Given the description of an element on the screen output the (x, y) to click on. 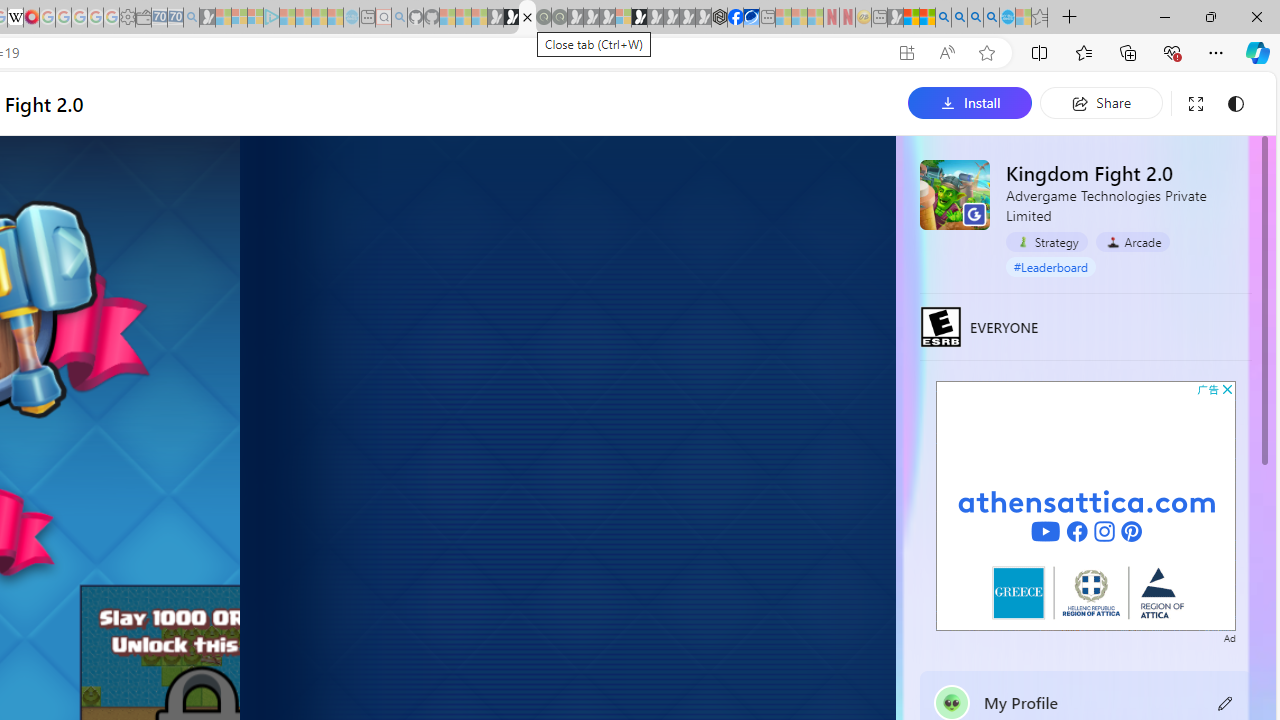
Play Zoo Boom in your browser | Games from Microsoft Start (511, 17)
Advertisement (1085, 505)
Arcade (1132, 241)
Strategy (1047, 241)
